Given the description of an element on the screen output the (x, y) to click on. 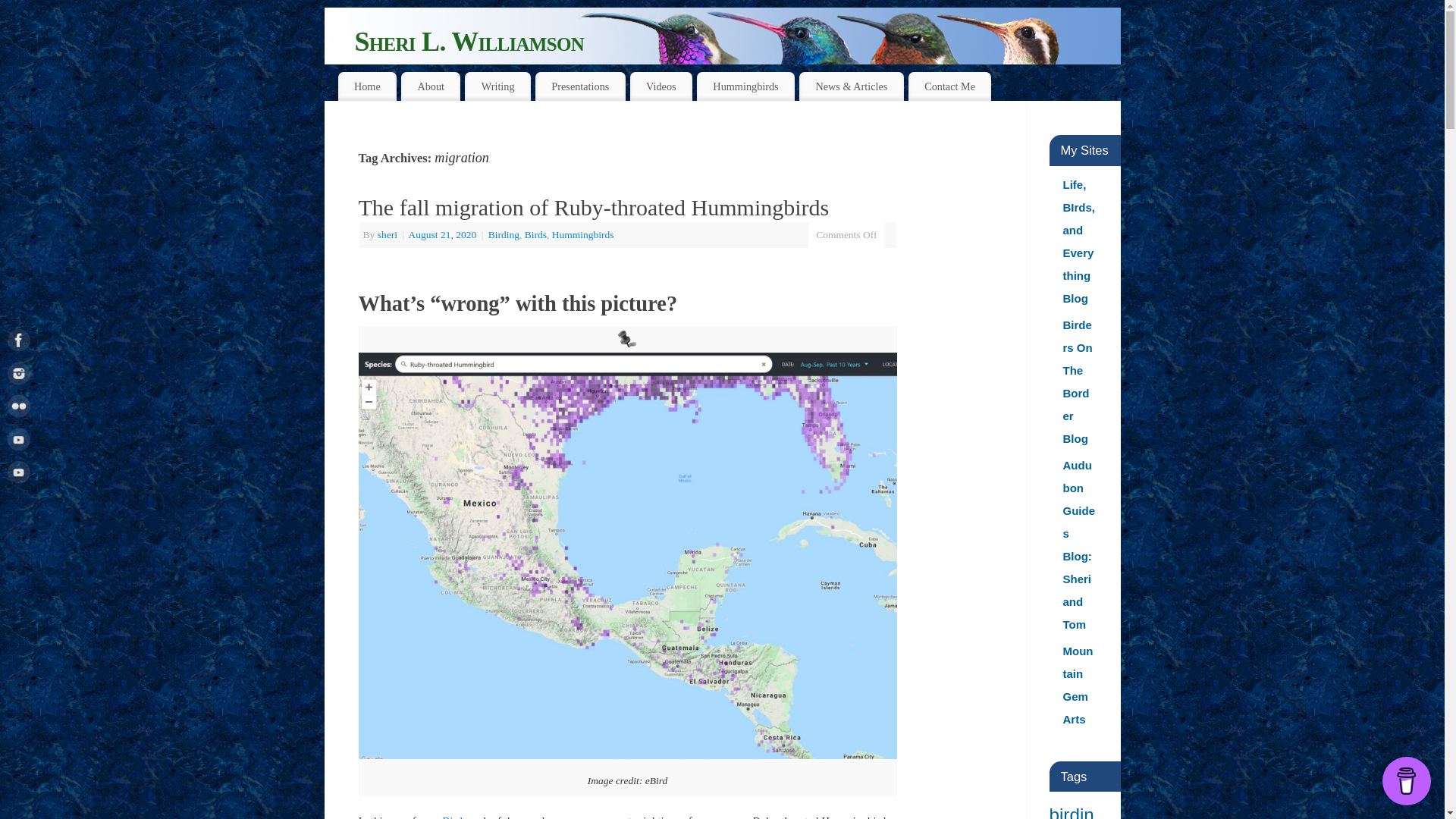
Videos (661, 86)
Sheri L. Williamson (738, 41)
1:30 PM (444, 234)
Sheri L. Williamson (738, 41)
Presentations (580, 86)
Home (367, 86)
Sheri L. Williamson (741, 45)
sheri (387, 234)
August 21, 2020 (444, 234)
Contact Me (949, 86)
eBird (450, 816)
Birding (503, 234)
Birds (535, 234)
Hummingbirds (582, 234)
